Given the description of an element on the screen output the (x, y) to click on. 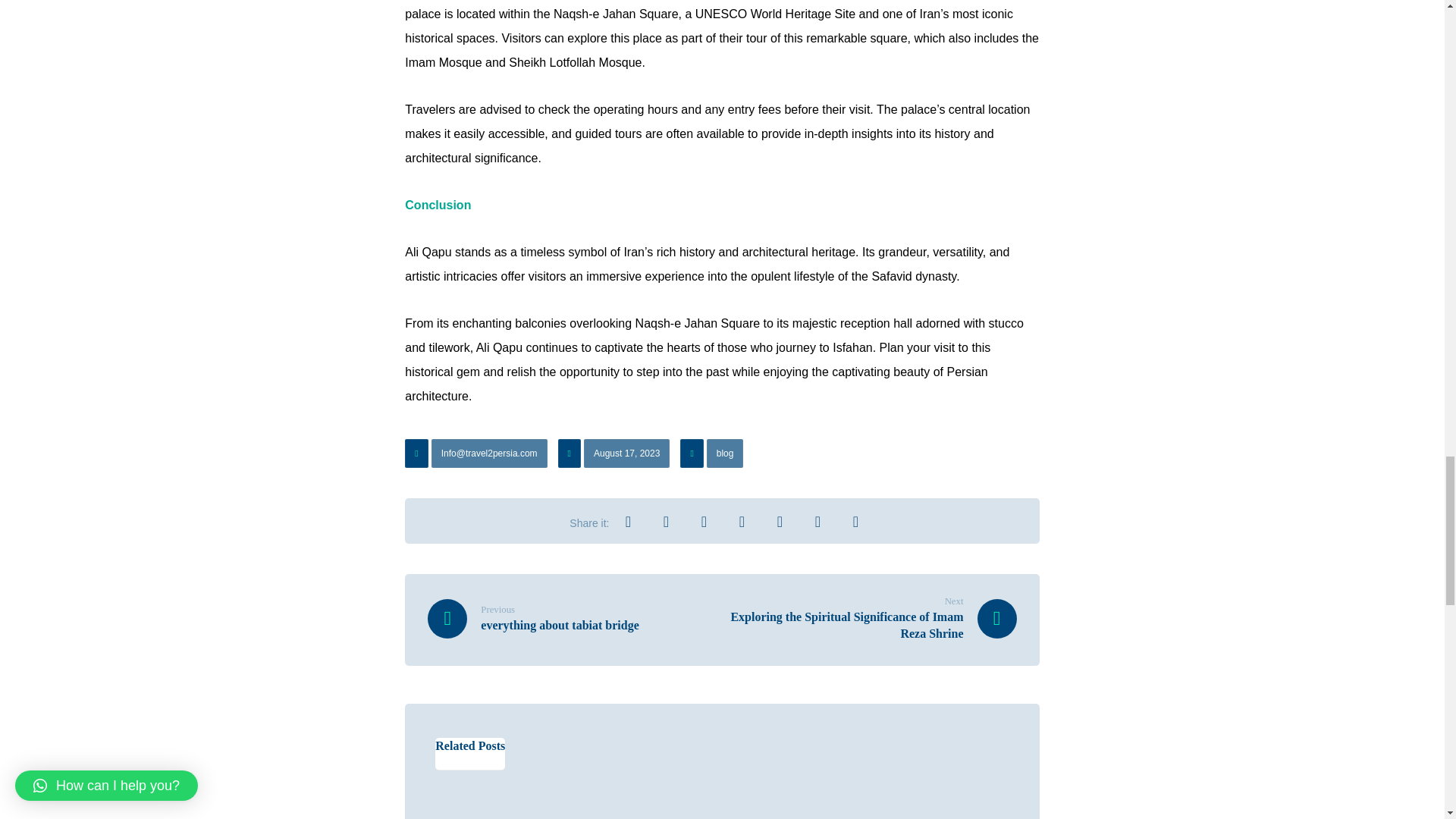
Posted by (477, 456)
Published on (614, 456)
